Given the description of an element on the screen output the (x, y) to click on. 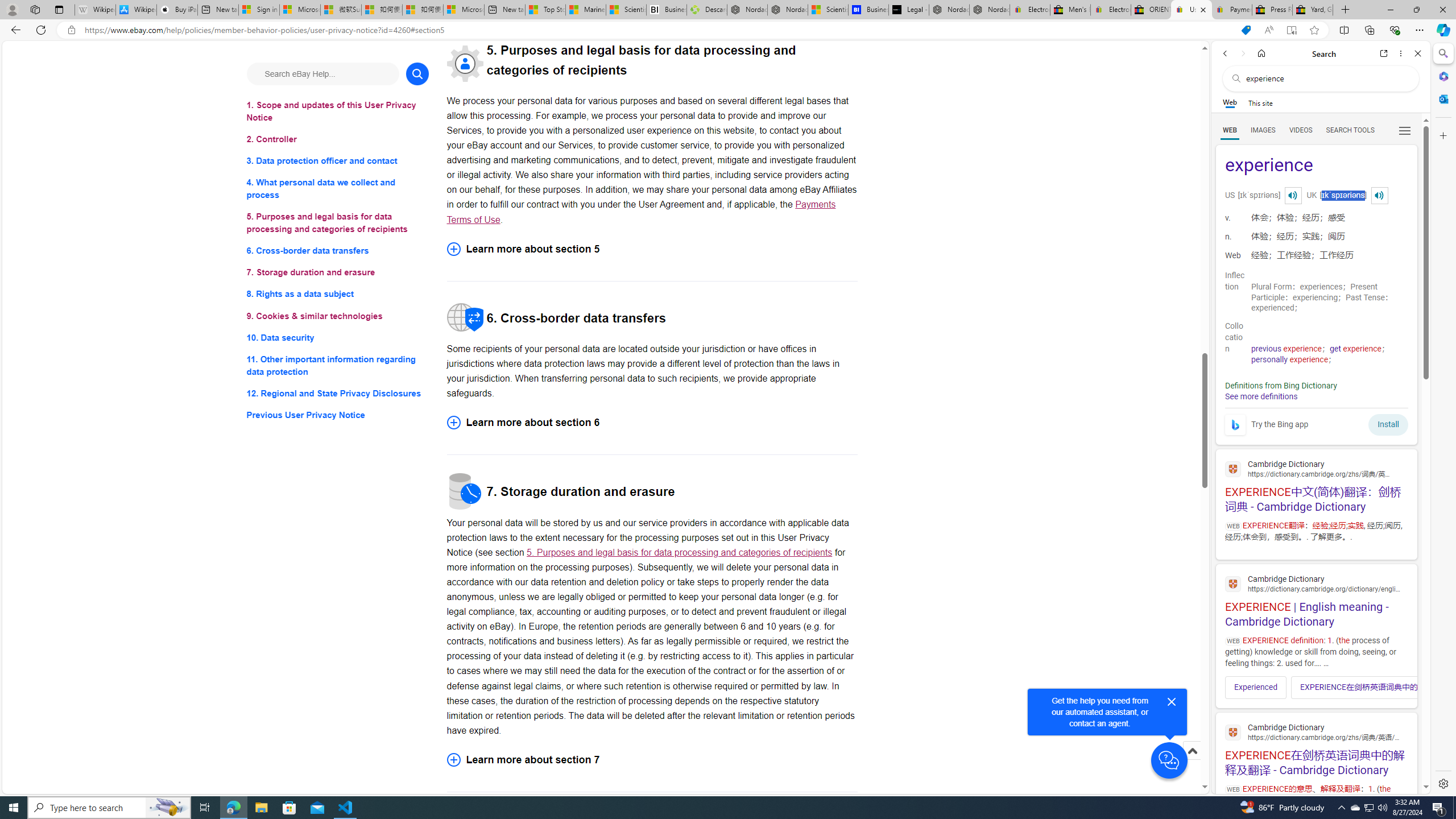
Yard, Garden & Outdoor Living (1312, 9)
Experienced (1255, 687)
Global web icon (1232, 732)
Microsoft Services Agreement (299, 9)
7. Storage duration and erasure (337, 272)
8. Rights as a data subject (337, 293)
Learn more about section 7 (651, 759)
Search Filter, WEB (1230, 129)
